Given the description of an element on the screen output the (x, y) to click on. 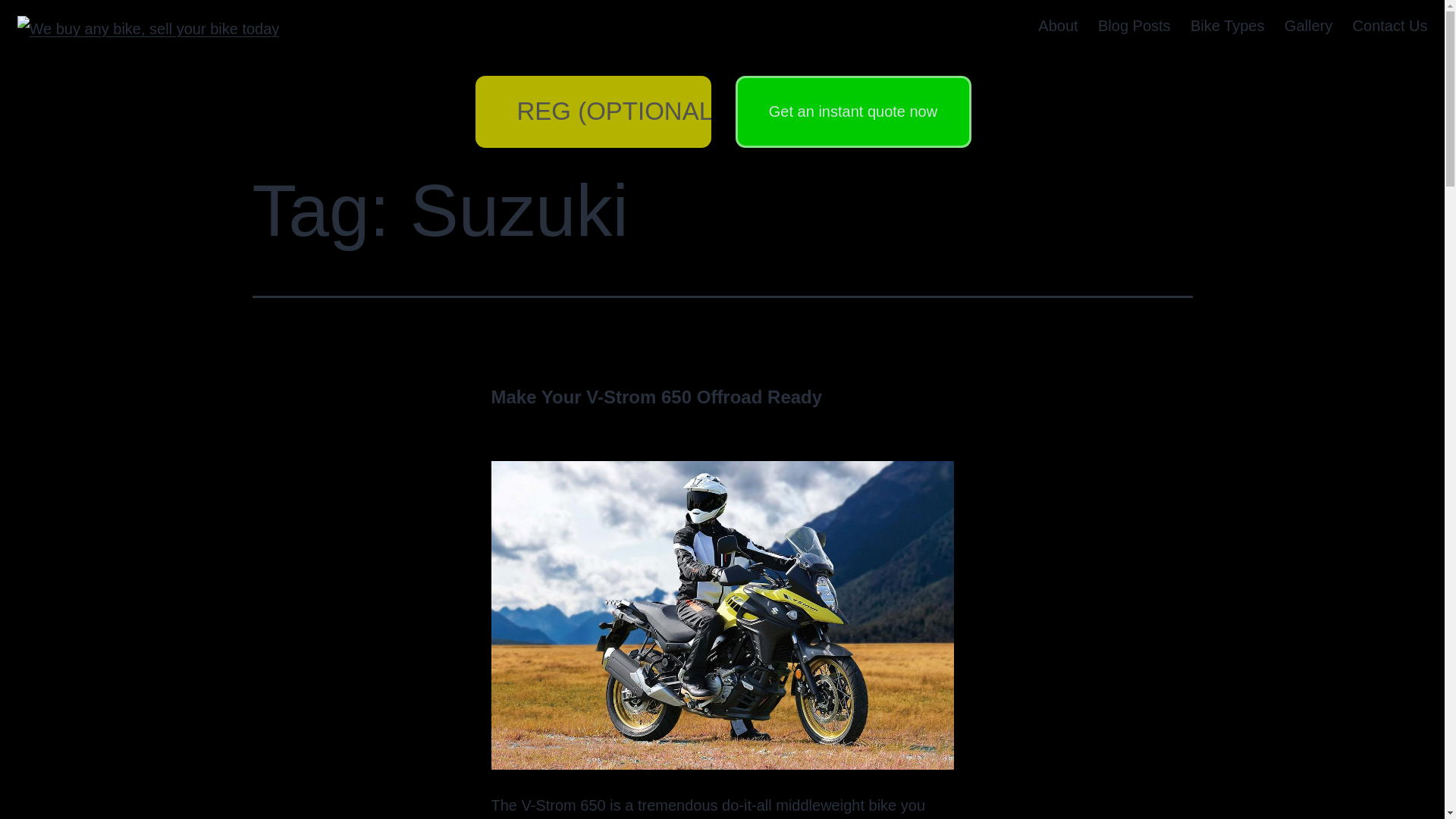
Get an instant quote now (853, 112)
Contact Us (1389, 26)
Make Your V-Strom 650 Offroad Ready (657, 396)
Gallery (1308, 26)
Bike Types (1227, 26)
Blog Posts (1133, 26)
About (1057, 26)
